Given the description of an element on the screen output the (x, y) to click on. 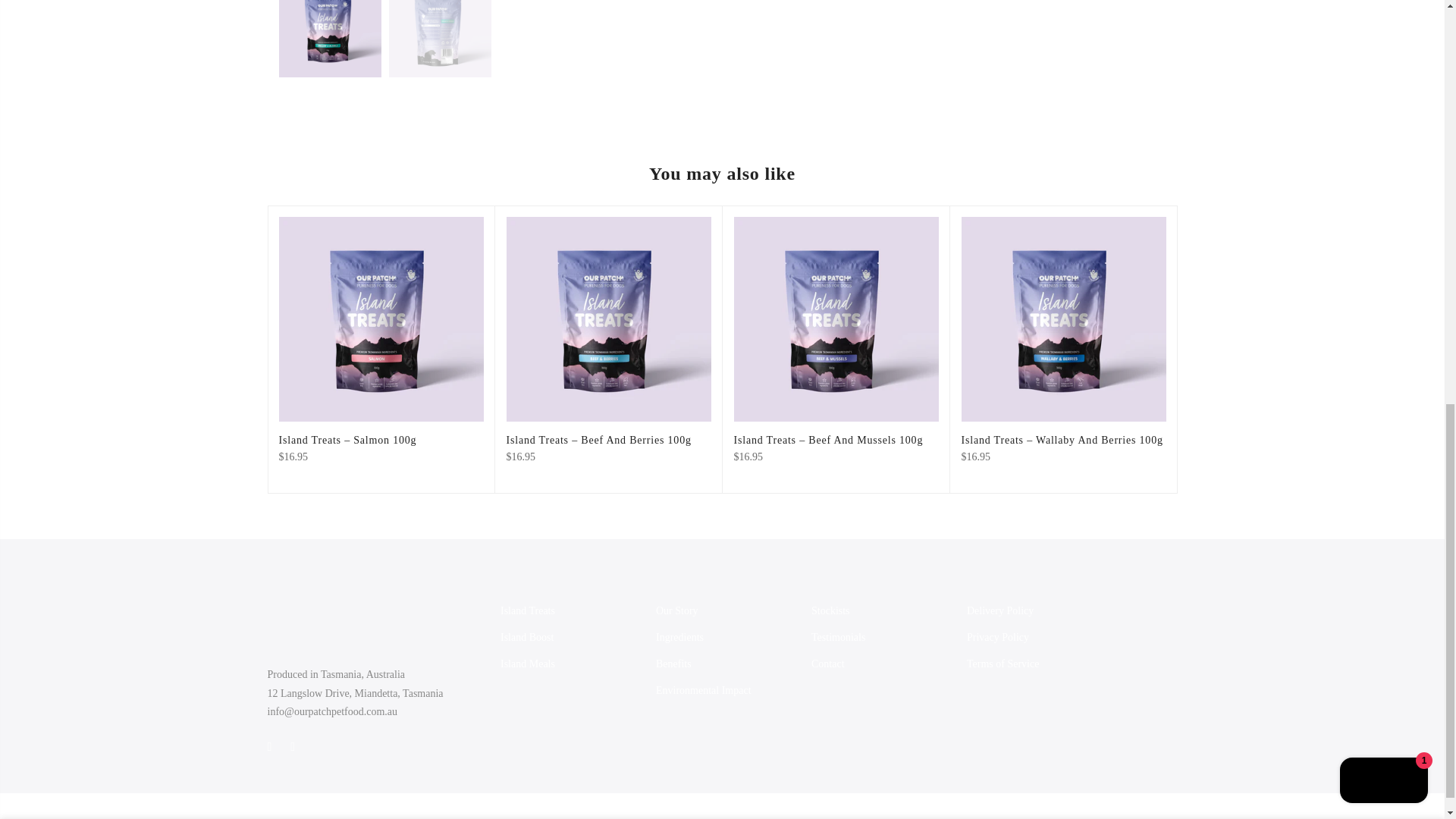
1 (976, 35)
